Given the description of an element on the screen output the (x, y) to click on. 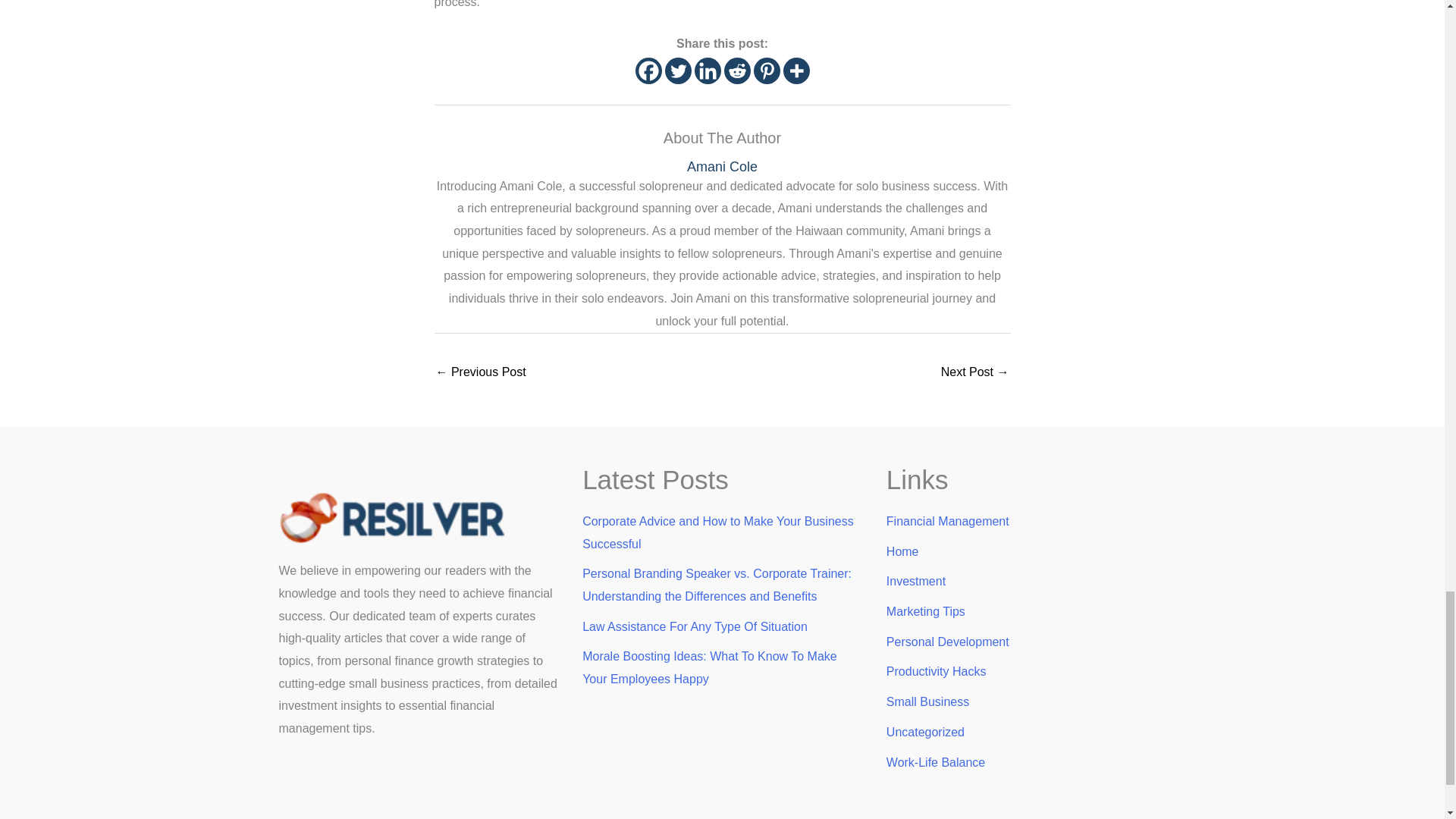
Home (902, 551)
Personal Development (947, 641)
Amani Cole (721, 166)
Investment (915, 581)
Small Business (927, 701)
Linkedin (707, 70)
Marketing Tips (925, 611)
Facebook (648, 70)
Twitter (676, 70)
Work-Life Balance (935, 762)
